Given the description of an element on the screen output the (x, y) to click on. 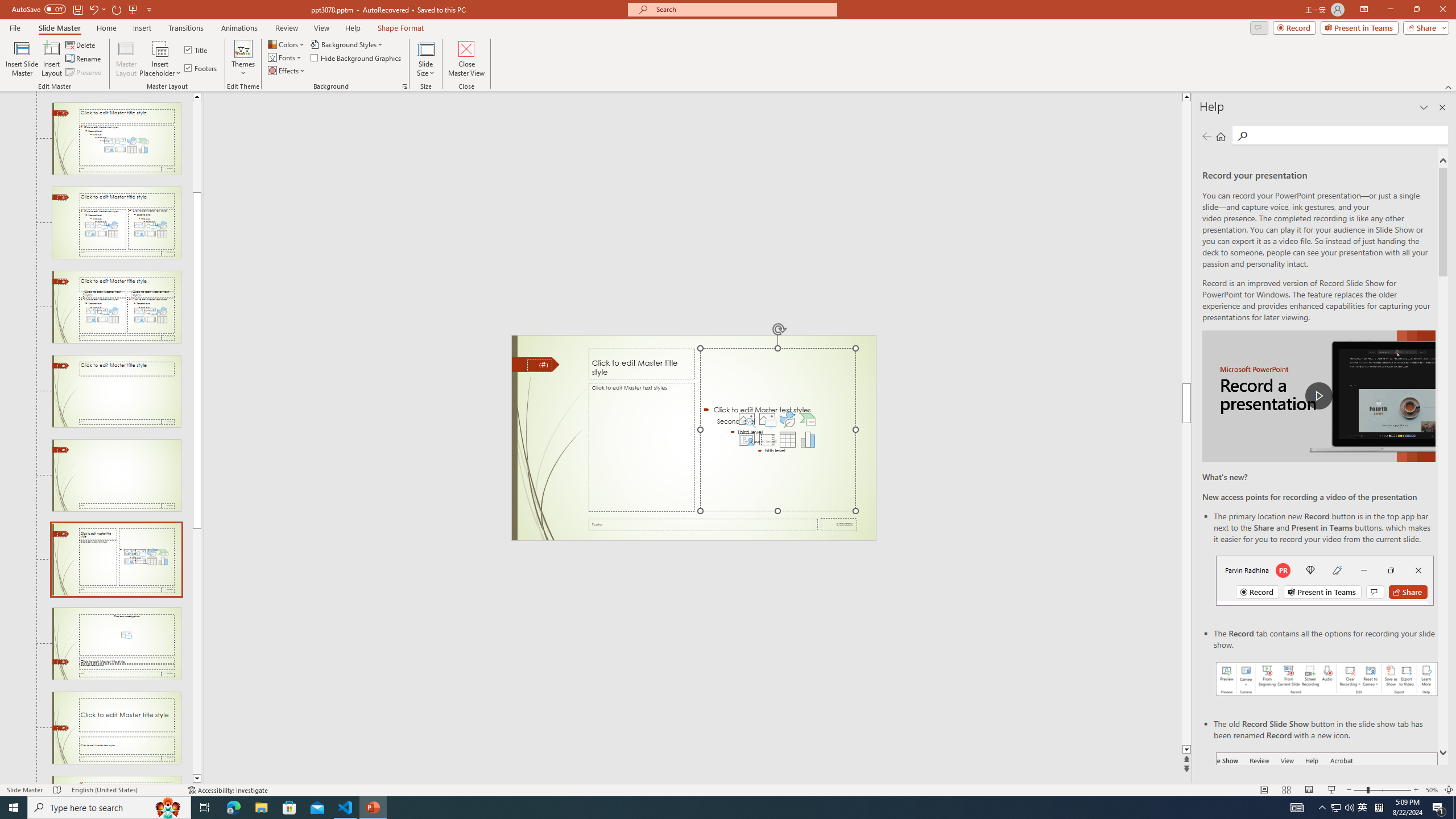
Delete (81, 44)
Insert Layout (51, 58)
Content Placeholder (778, 429)
